Given the description of an element on the screen output the (x, y) to click on. 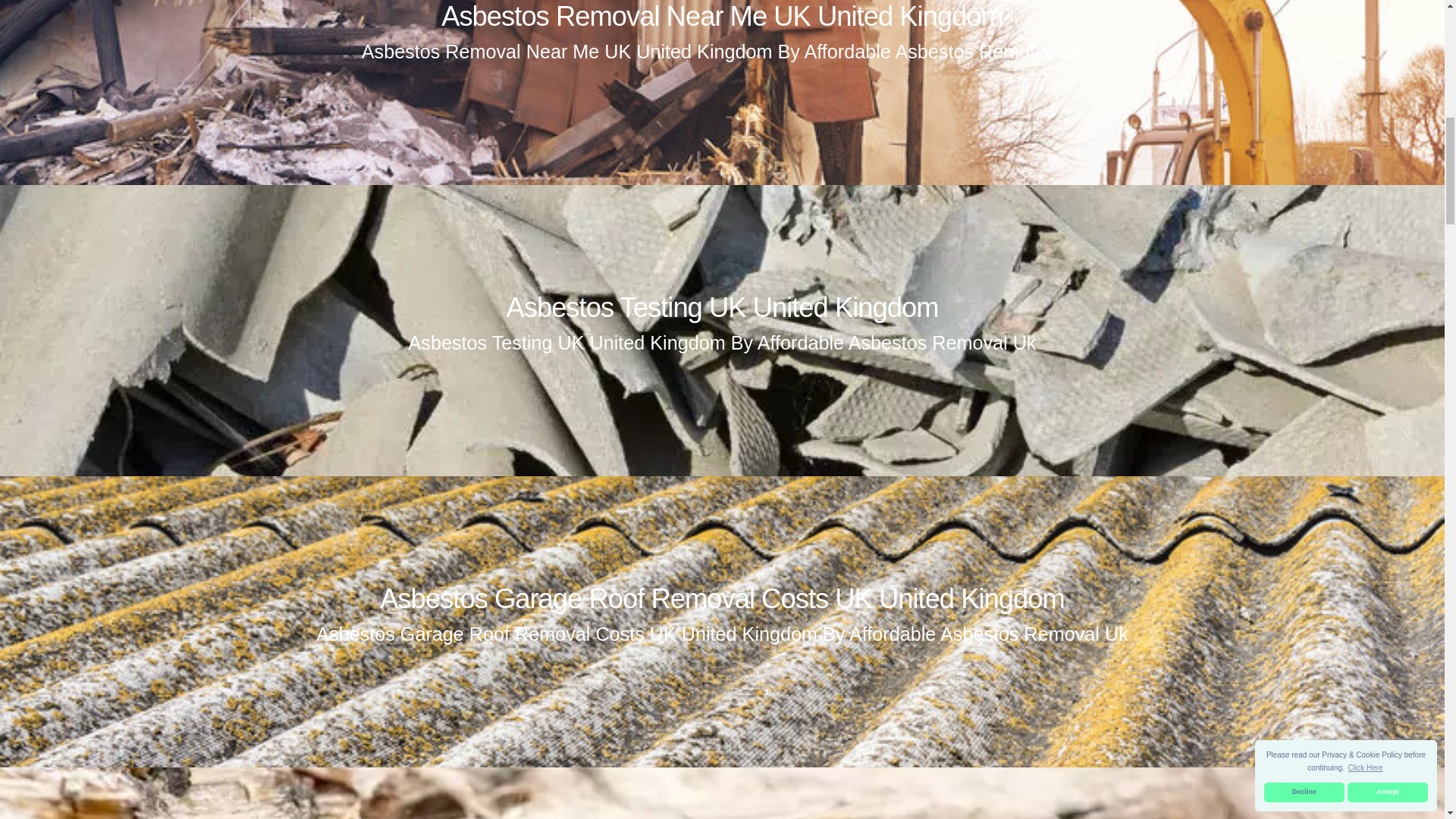
Asbestos Removal Near Me UK United Kingdom (722, 15)
Asbestos Testing UK United Kingdom (721, 306)
Asbestos Garage Roof Removal Costs UK United Kingdom (722, 598)
